Given the description of an element on the screen output the (x, y) to click on. 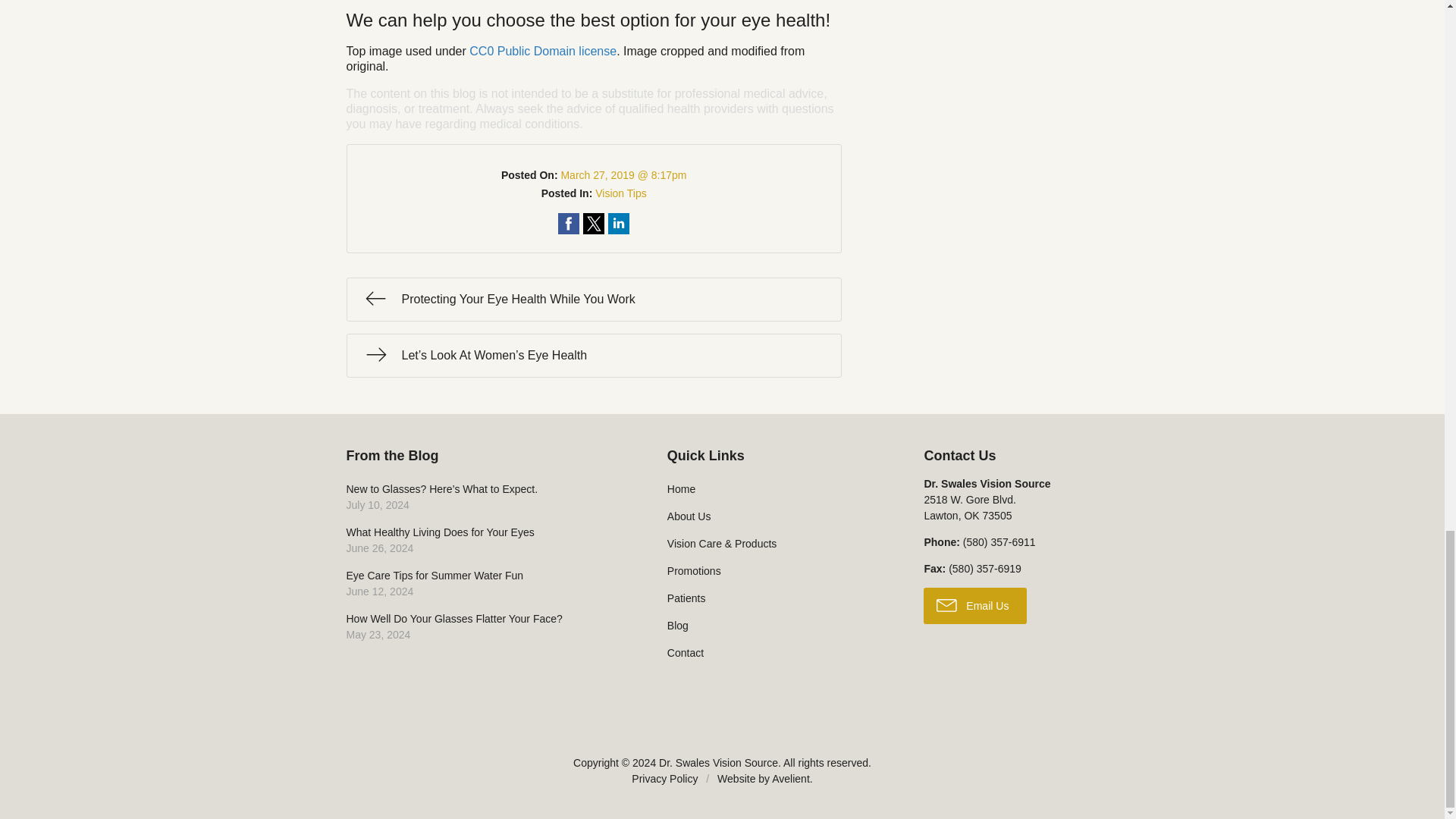
Home (775, 488)
Open this address in Google Maps (485, 583)
Protecting Your Eye Health While You Work (968, 507)
Share on LinkedIn (593, 299)
Powered by Avelient (618, 222)
Share on Facebook (790, 778)
Contact practice (568, 222)
Share on Twitter (998, 541)
CC0 Public Domain license (593, 222)
Share on Twitter (541, 50)
Share on Facebook (593, 222)
Vision Tips (485, 627)
